Given the description of an element on the screen output the (x, y) to click on. 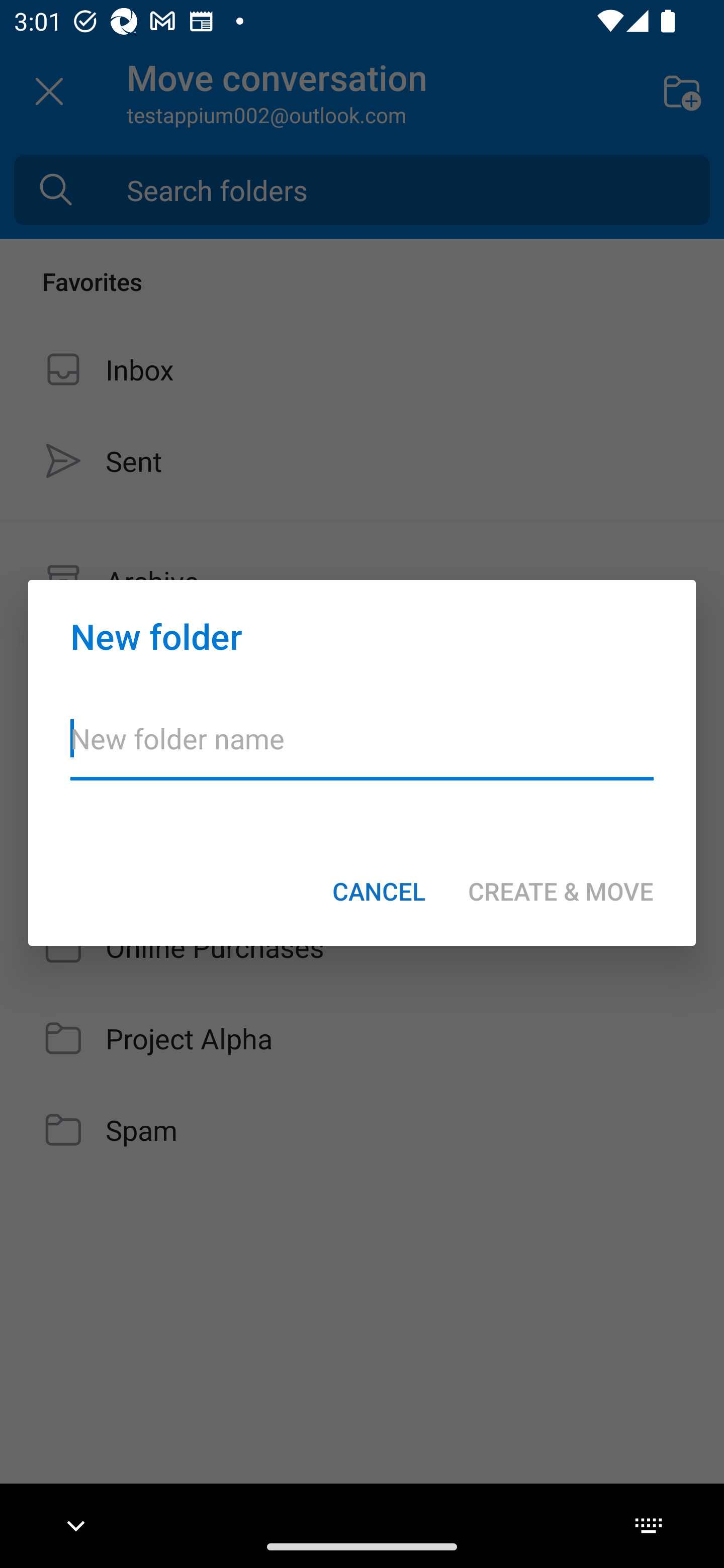
New folder name (361, 750)
CANCEL (378, 891)
CREATE & MOVE (560, 891)
